Given the description of an element on the screen output the (x, y) to click on. 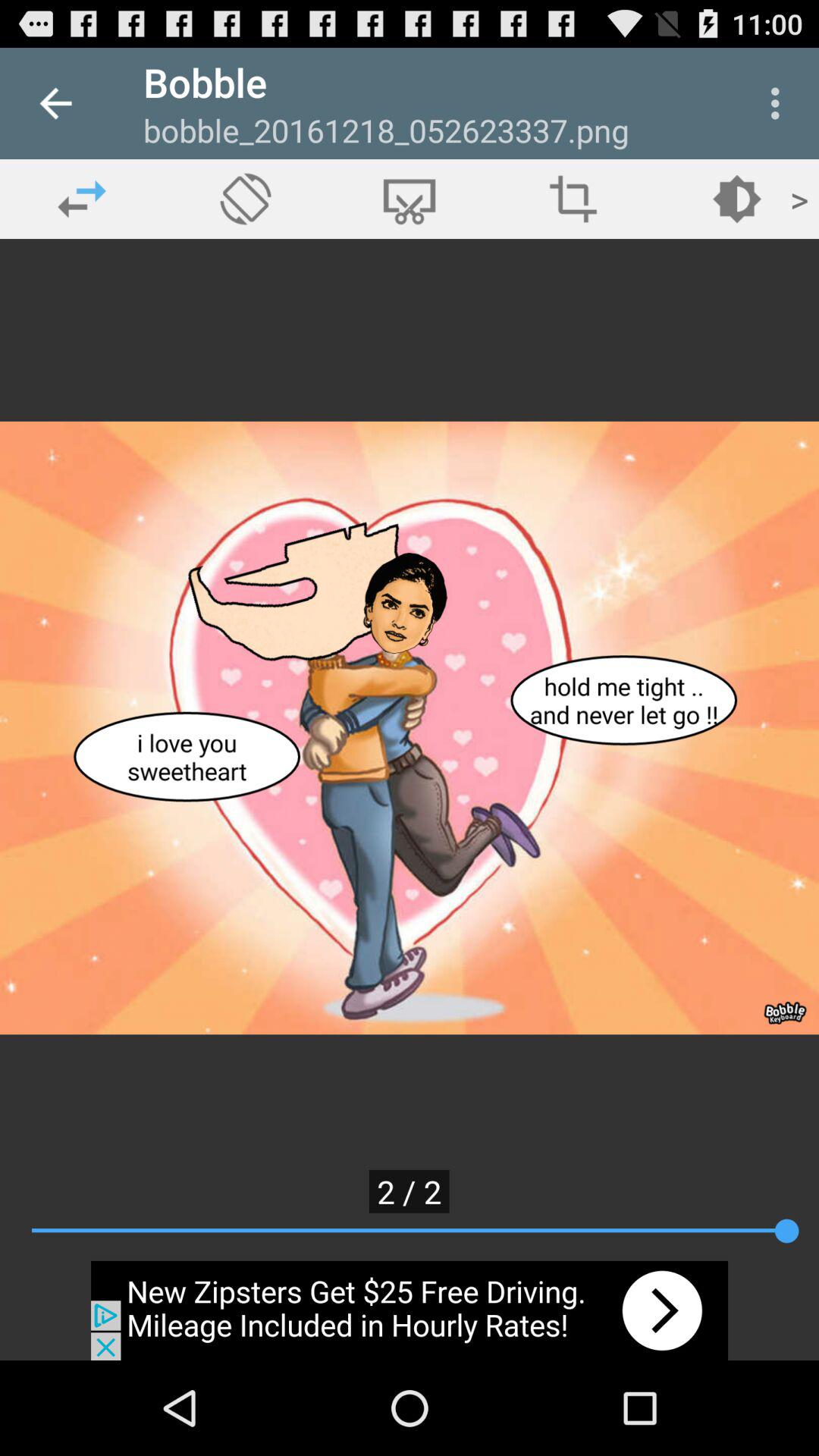
cut the page (409, 198)
